Given the description of an element on the screen output the (x, y) to click on. 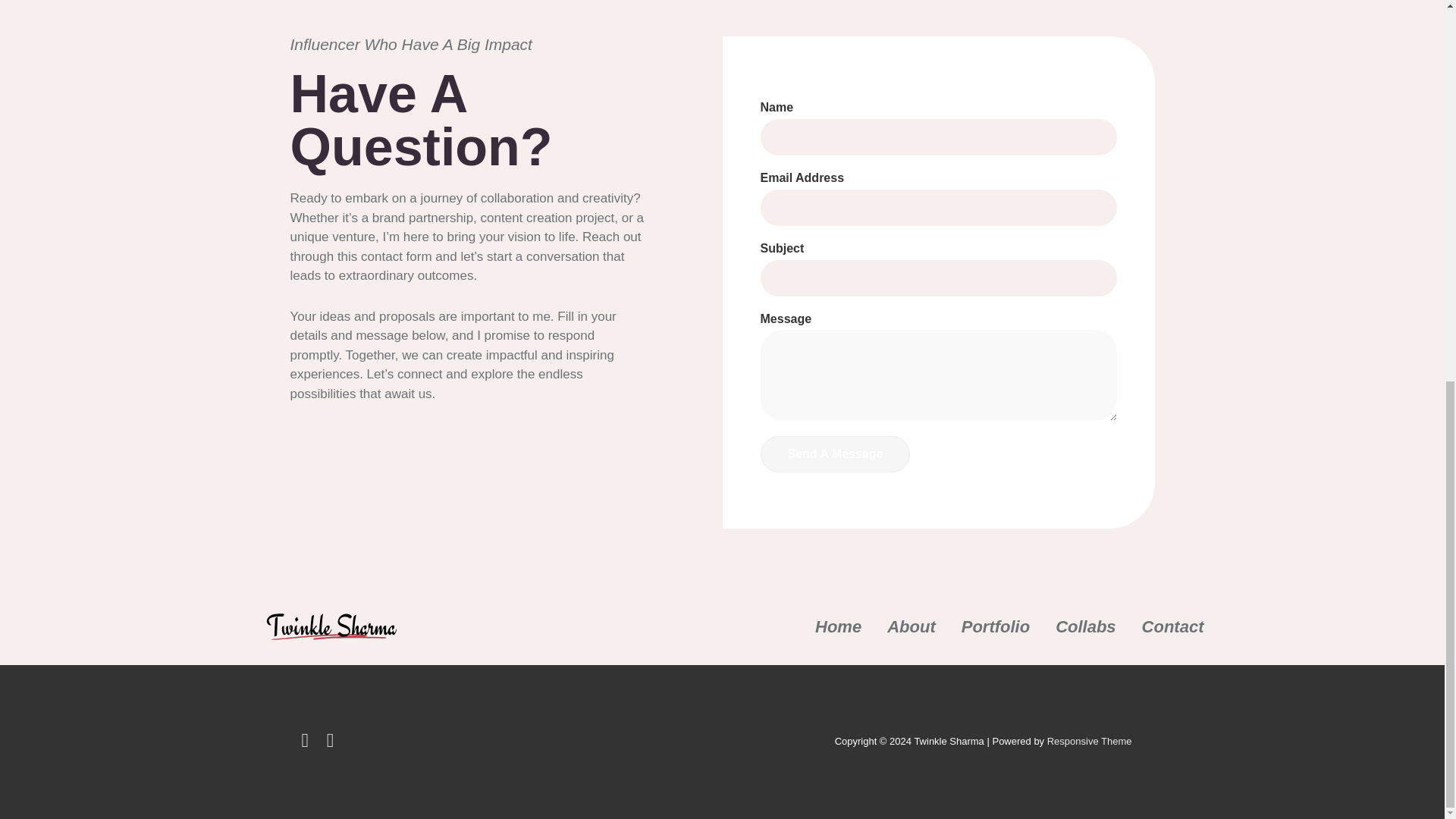
Portfolio (994, 627)
Collabs (1085, 627)
Responsive Theme (1089, 740)
instagram (331, 743)
youtube (308, 743)
Home (838, 627)
Send A Message (835, 453)
Contact (1172, 627)
About (911, 627)
